Given the description of an element on the screen output the (x, y) to click on. 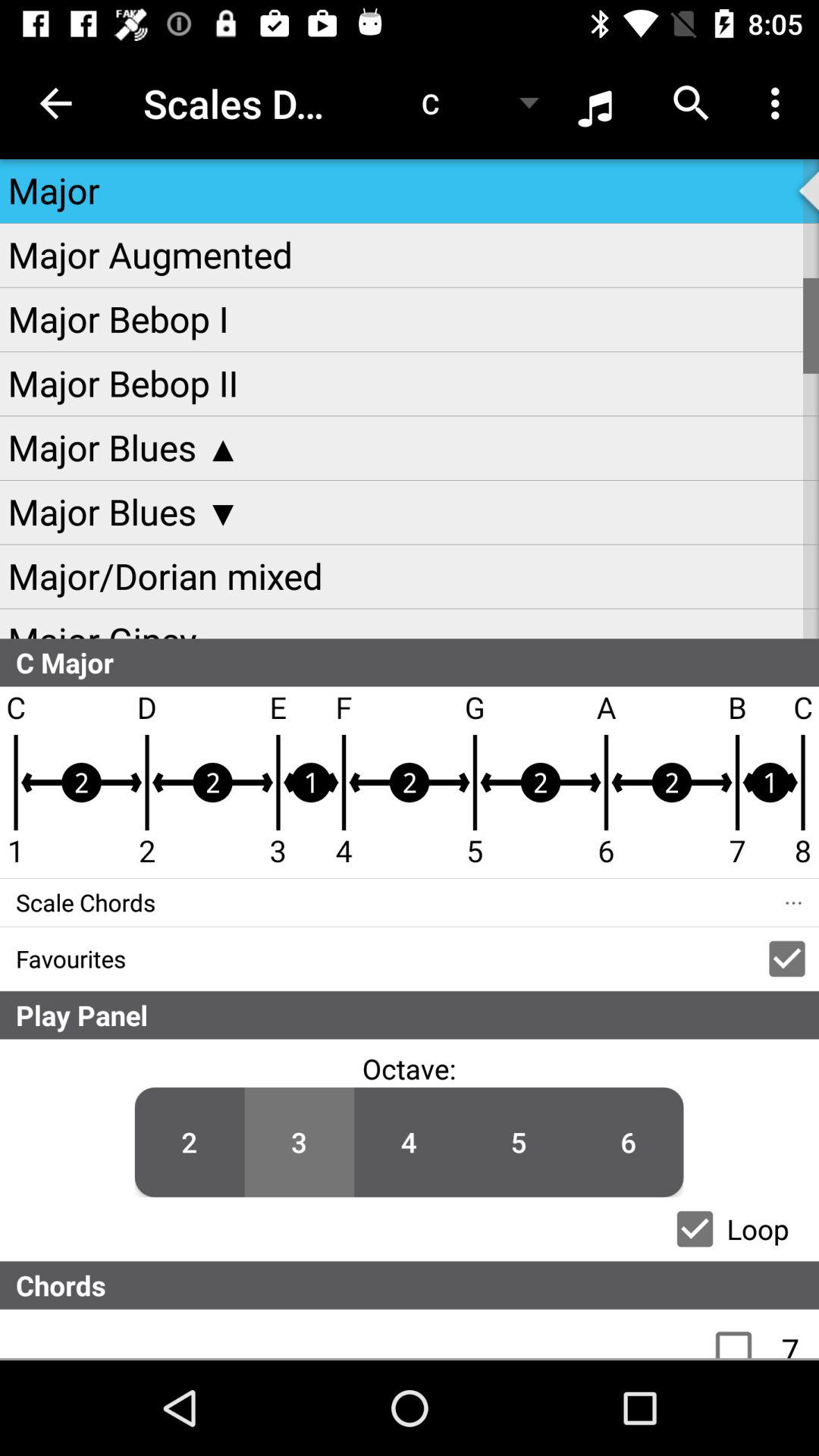
toggle on (741, 1333)
